Given the description of an element on the screen output the (x, y) to click on. 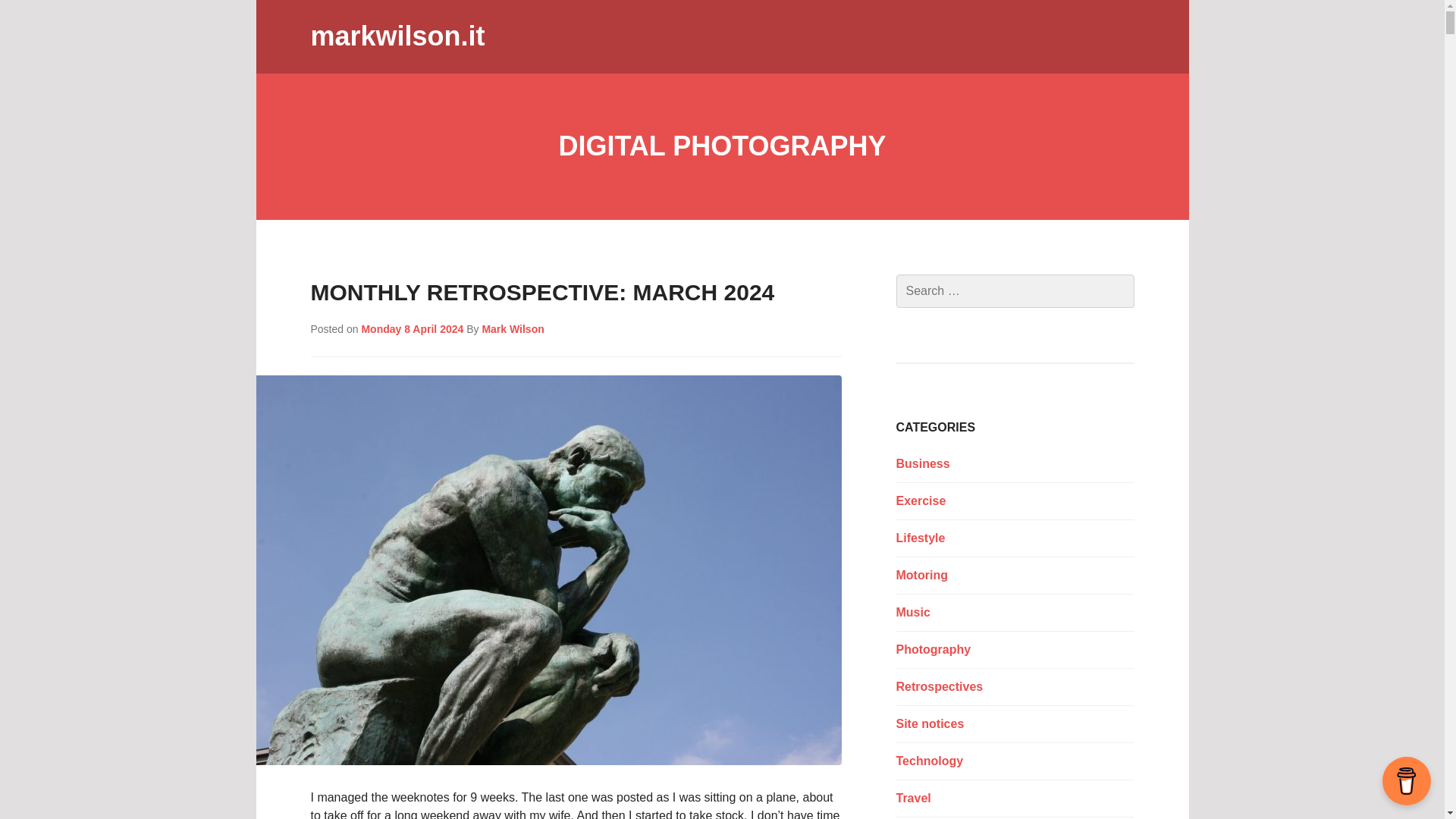
Monday 8 April 2024 (412, 328)
MONTHLY RETROSPECTIVE: MARCH 2024 (542, 292)
Mark Wilson (512, 328)
markwilson.it (397, 35)
